Given the description of an element on the screen output the (x, y) to click on. 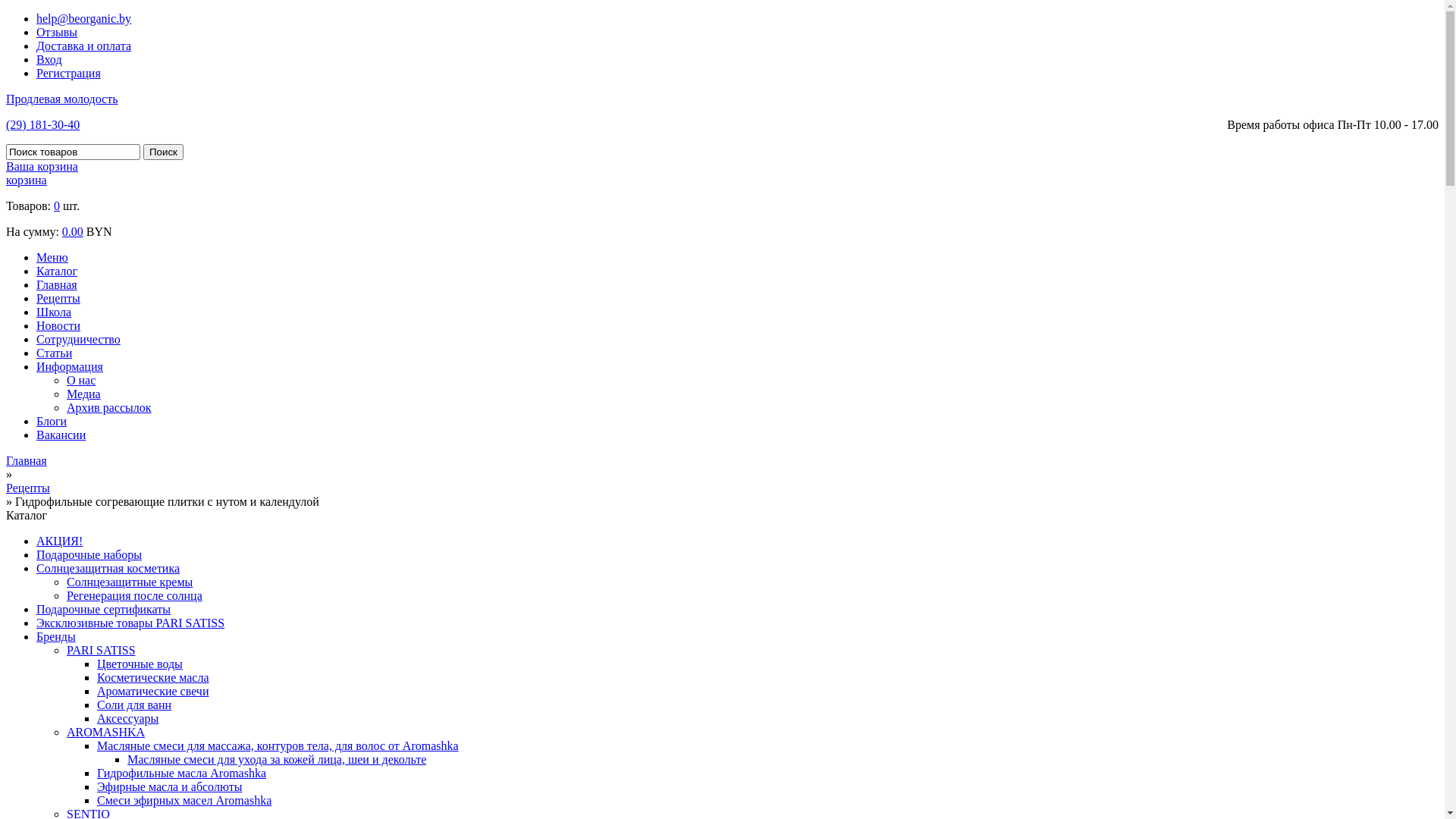
help@beorganic.by Element type: text (83, 18)
0 Element type: text (56, 205)
PARI SATISS Element type: text (100, 649)
0.00 Element type: text (72, 231)
(29) 181-30-40 Element type: text (42, 124)
AROMASHKA Element type: text (105, 731)
